Given the description of an element on the screen output the (x, y) to click on. 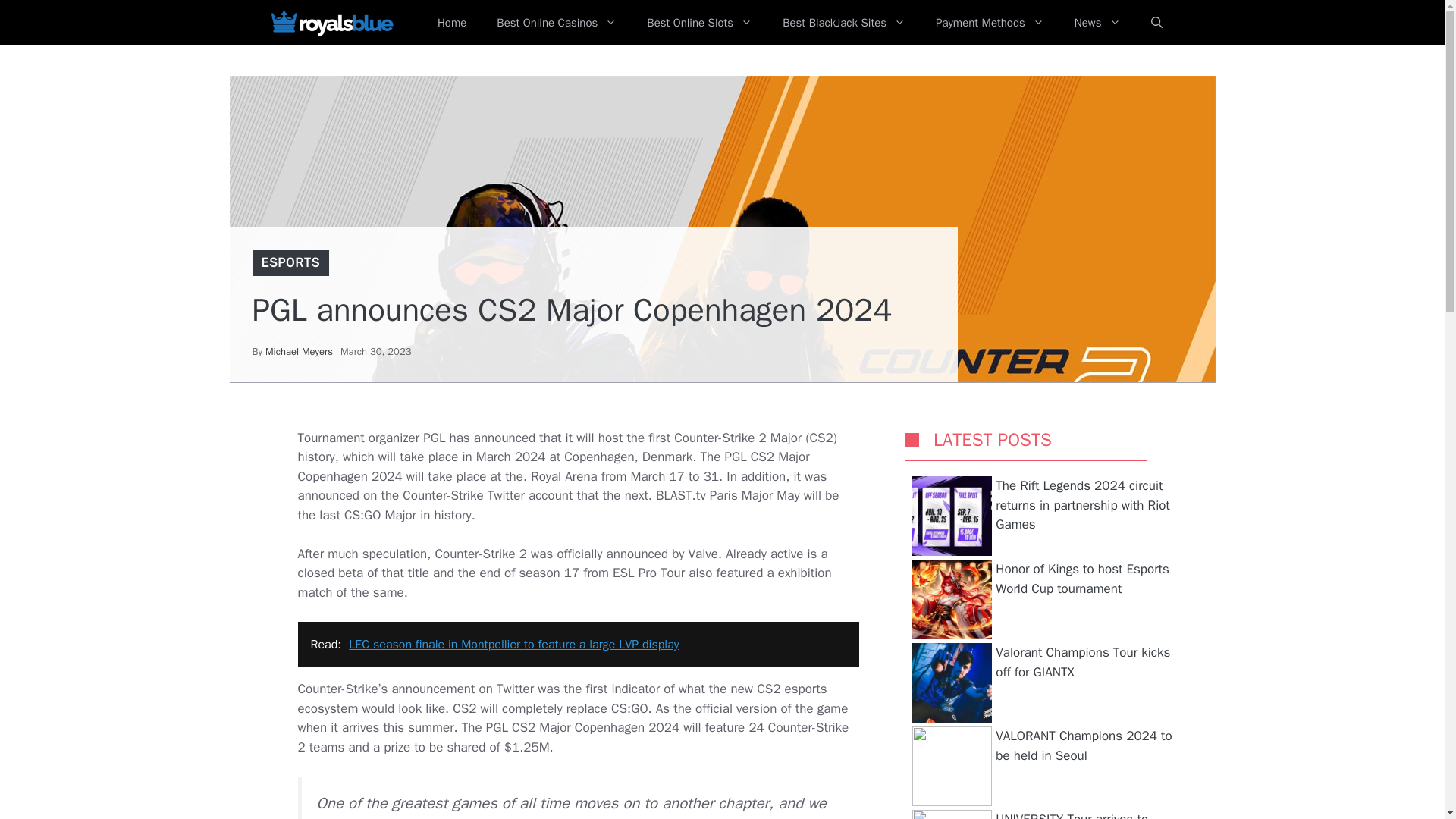
Payment Methods (989, 22)
Best Online Slots (699, 22)
News (1097, 22)
SORRY, YOUR BROWSER DOES NOT SUPPORT INLINE SVG. (911, 440)
Best BlackJack Sites (843, 22)
Home (451, 22)
Best Online Casinos (556, 22)
Royals Blue (331, 22)
Michael Meyers (298, 350)
ESPORTS (289, 262)
